Given the description of an element on the screen output the (x, y) to click on. 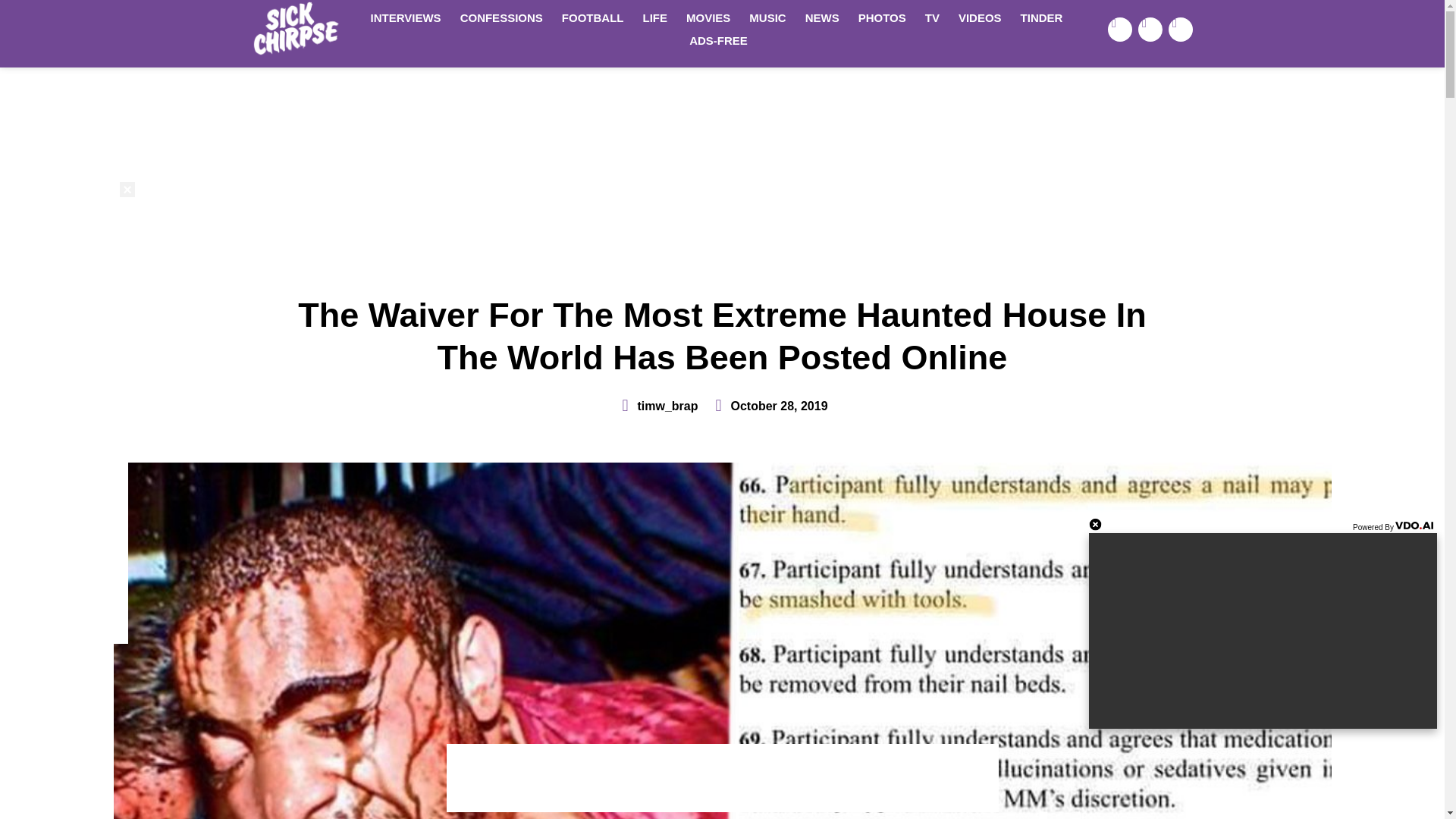
Facebook (1120, 29)
INTERVIEWS (405, 17)
FOOTBALL (592, 17)
MUSIC (767, 17)
Instagram (1180, 29)
PHOTOS (882, 17)
Twitter (1149, 29)
TV (932, 17)
CONFESSIONS (501, 17)
NEWS (822, 17)
VIDEOS (979, 17)
LIFE (654, 17)
MOVIES (708, 17)
TINDER (1041, 17)
